Given the description of an element on the screen output the (x, y) to click on. 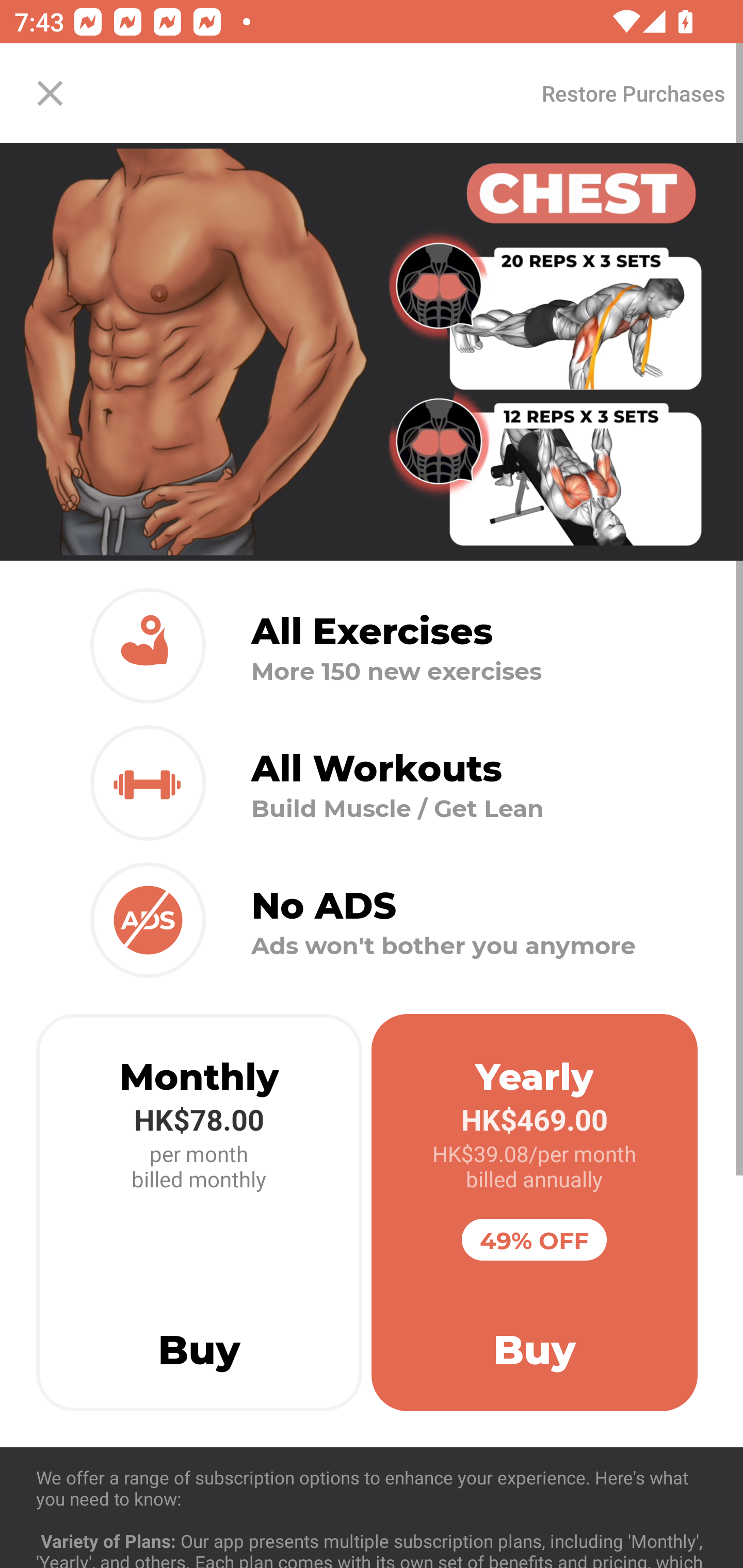
Restore Purchases (632, 92)
Monthly HK$78.00 per month
billed monthly Buy (199, 1212)
